Given the description of an element on the screen output the (x, y) to click on. 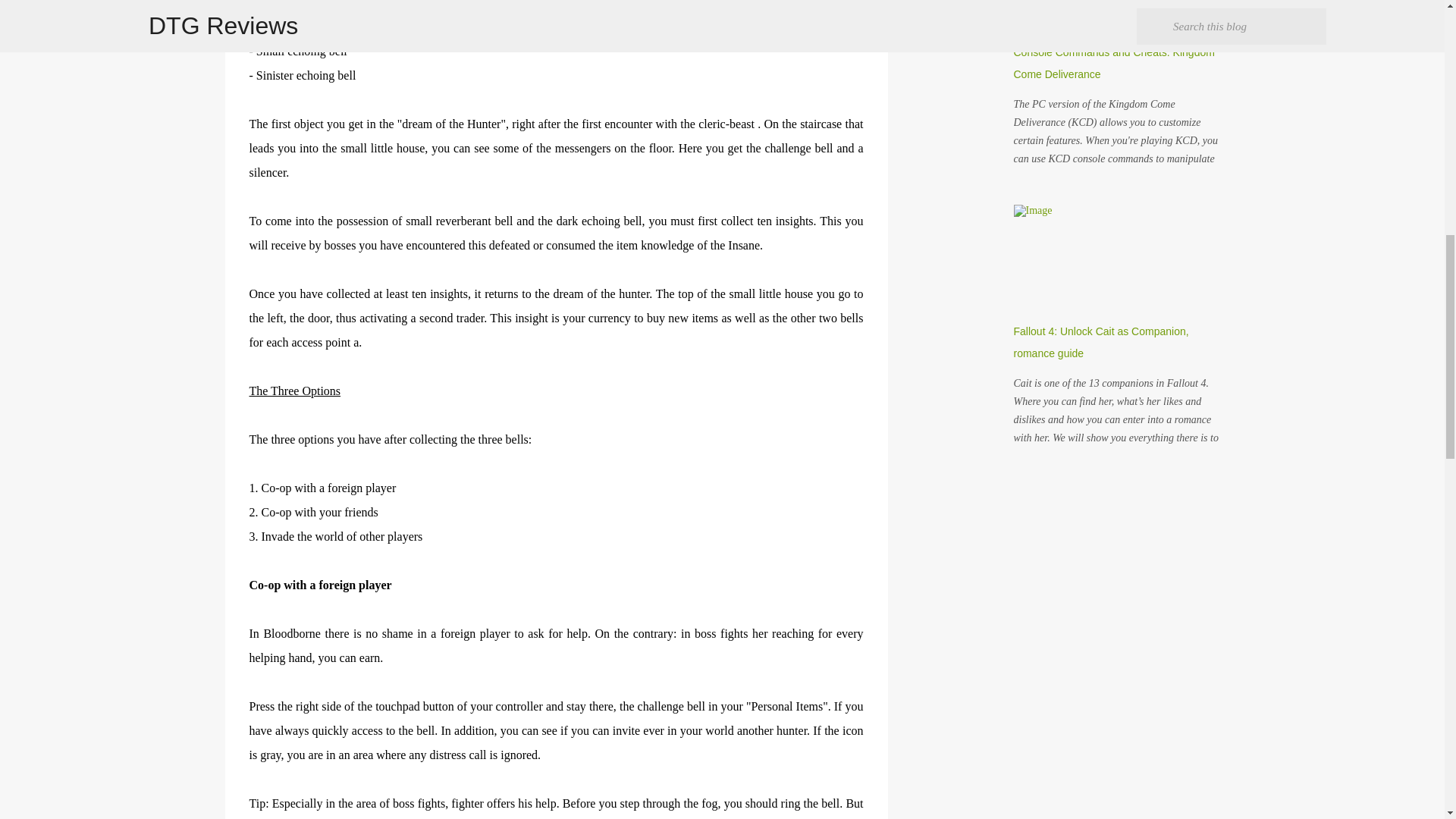
Fallout 4: Unlock Cait as Companion, romance guide (1100, 342)
Console Commands and Cheats: Kingdom Come Deliverance (1113, 62)
